Given the description of an element on the screen output the (x, y) to click on. 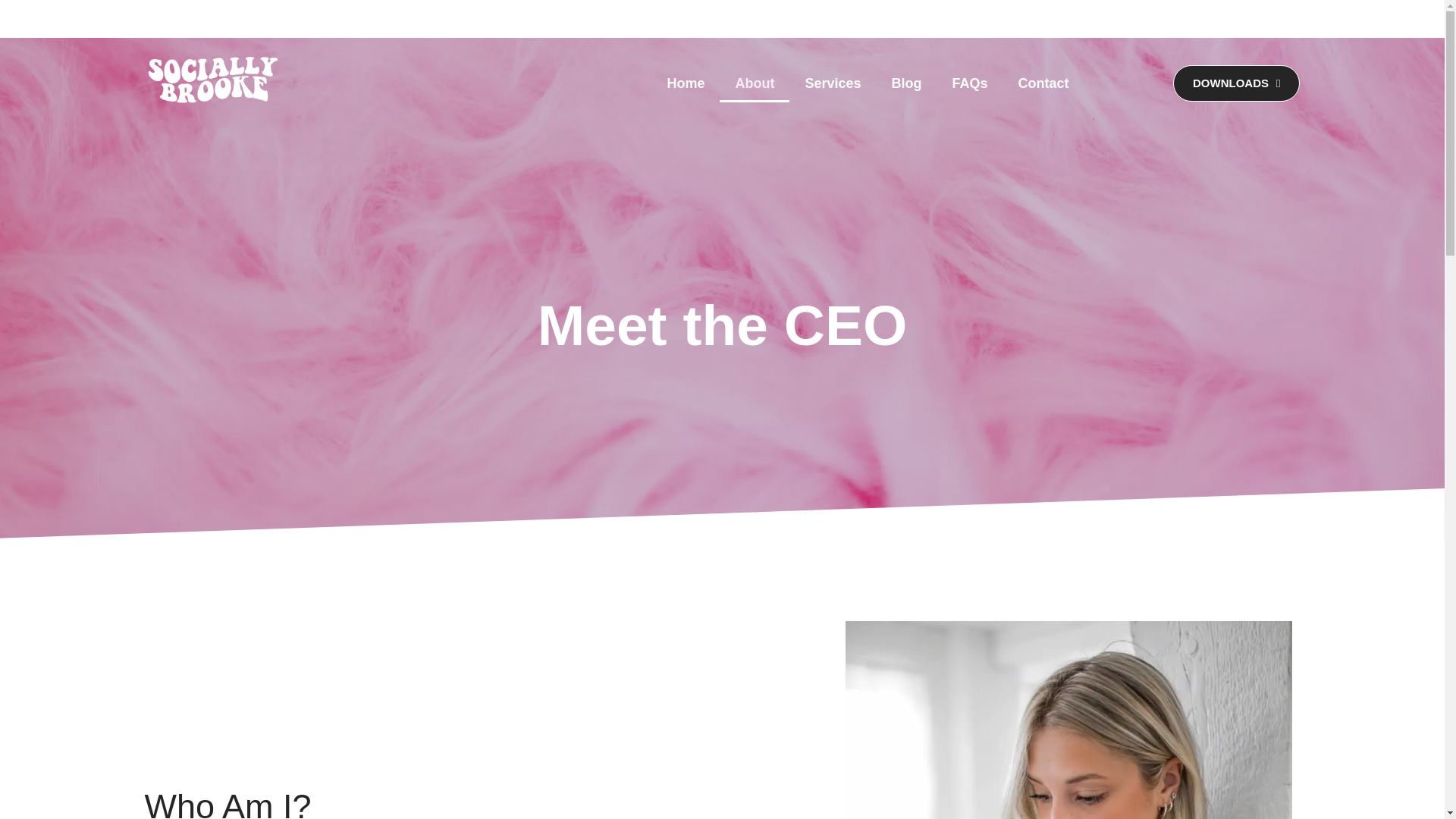
Home (684, 83)
Contact (1043, 83)
About (754, 83)
Blog (906, 83)
Services (832, 83)
DOWNLOADS (1236, 83)
FAQs (969, 83)
